Given the description of an element on the screen output the (x, y) to click on. 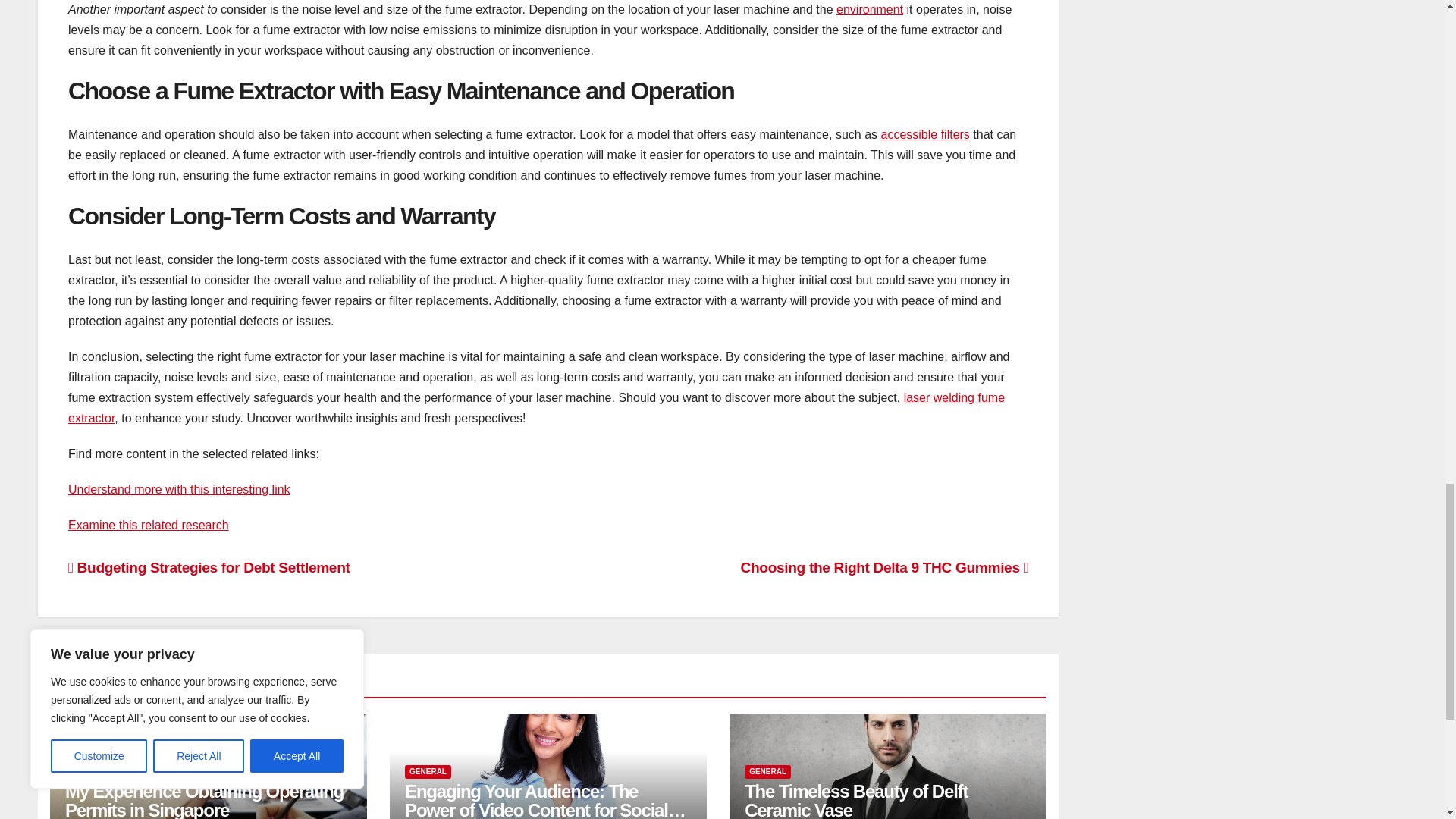
Choosing the Right Delta 9 THC Gummies (885, 567)
GENERAL (427, 771)
My Experience Obtaining Operating Permits in Singapore (204, 800)
laser welding fume extractor (536, 408)
accessible filters (924, 133)
Permalink to: The Timeless Beauty of Delft Ceramic Vase (856, 800)
Budgeting Strategies for Debt Settlement (208, 567)
GENERAL (88, 771)
Understand more with this interesting link (178, 489)
Examine this related research (148, 524)
environment (868, 9)
The Timeless Beauty of Delft Ceramic Vase (856, 800)
